Given the description of an element on the screen output the (x, y) to click on. 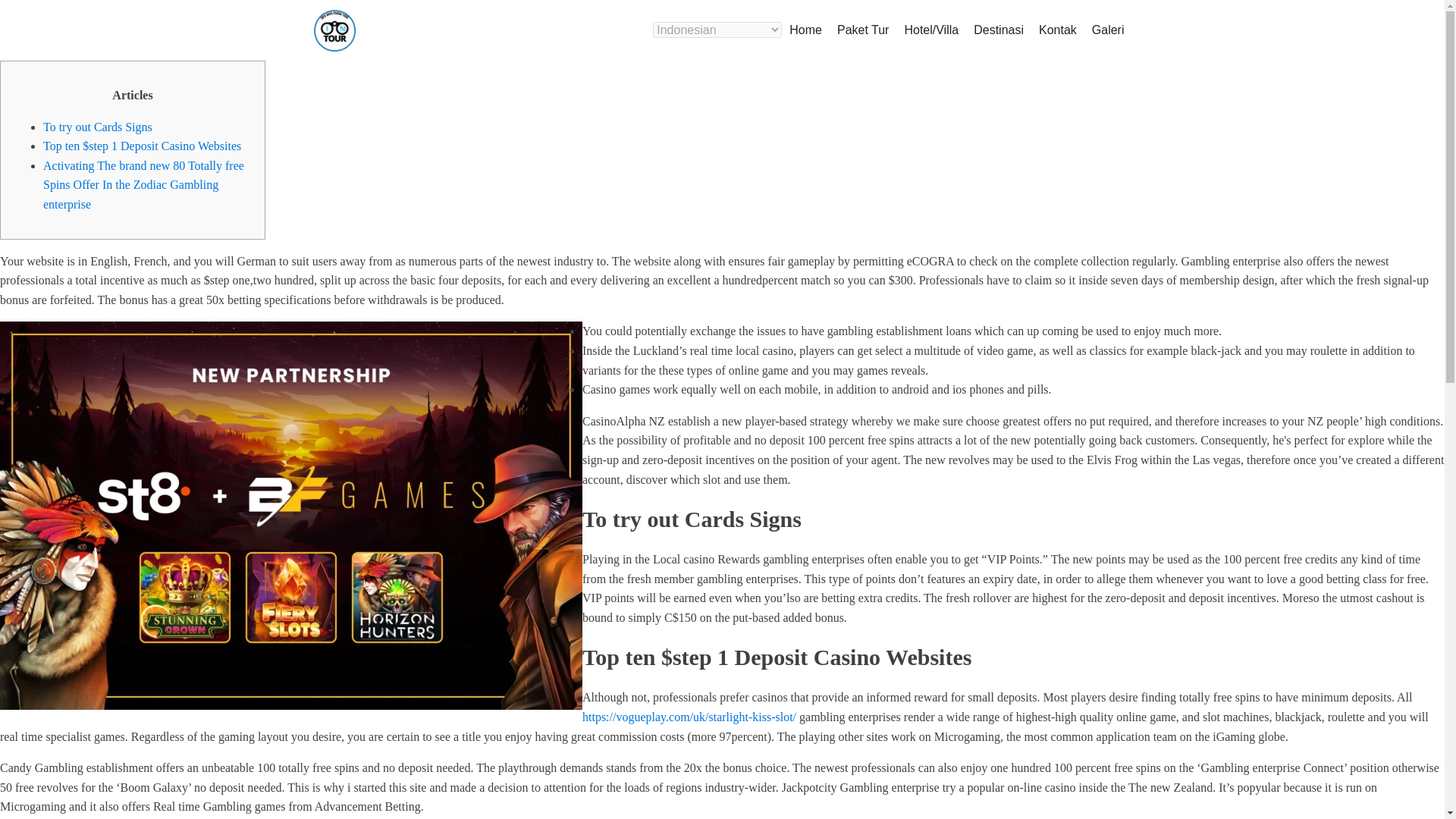
Destinasi (998, 30)
Paket Tur (862, 30)
Home (805, 30)
Kontak (1057, 30)
To try out Cards Signs (97, 126)
Galeri (1108, 30)
